Given the description of an element on the screen output the (x, y) to click on. 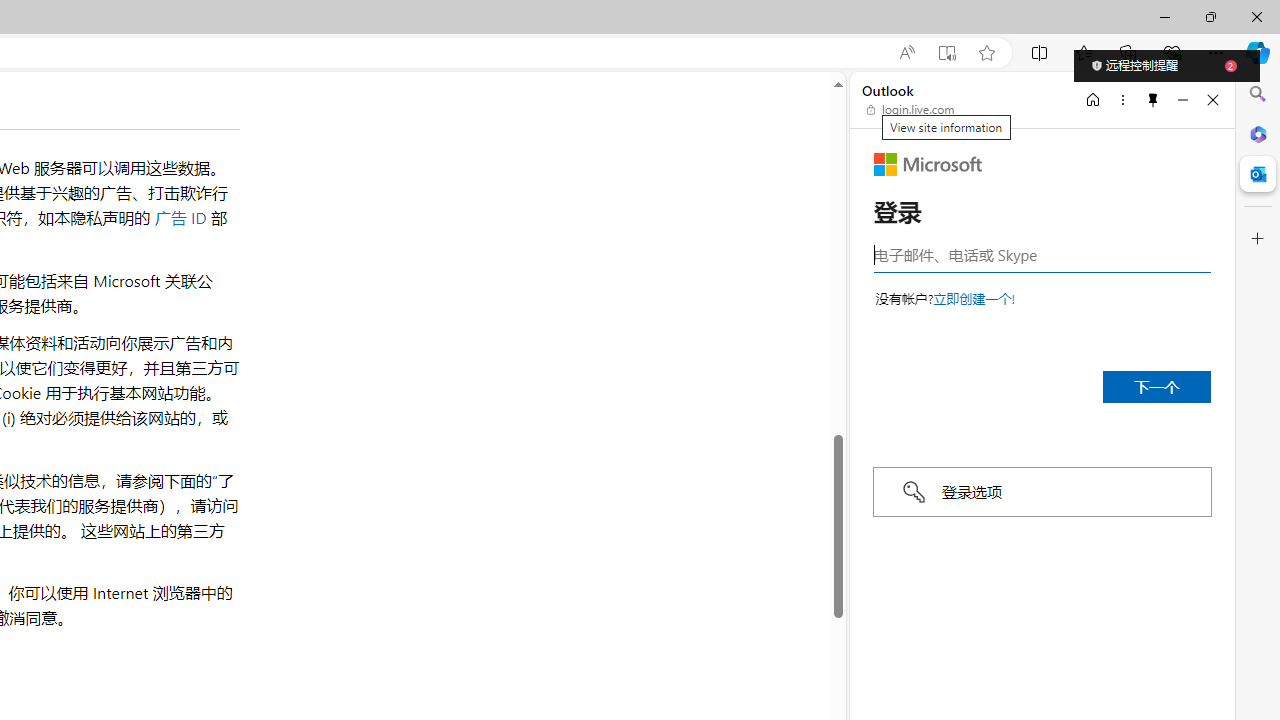
Outlook (1258, 174)
Unpin side pane (1153, 99)
Home (1093, 99)
Microsoft 365 (1258, 133)
